Given the description of an element on the screen output the (x, y) to click on. 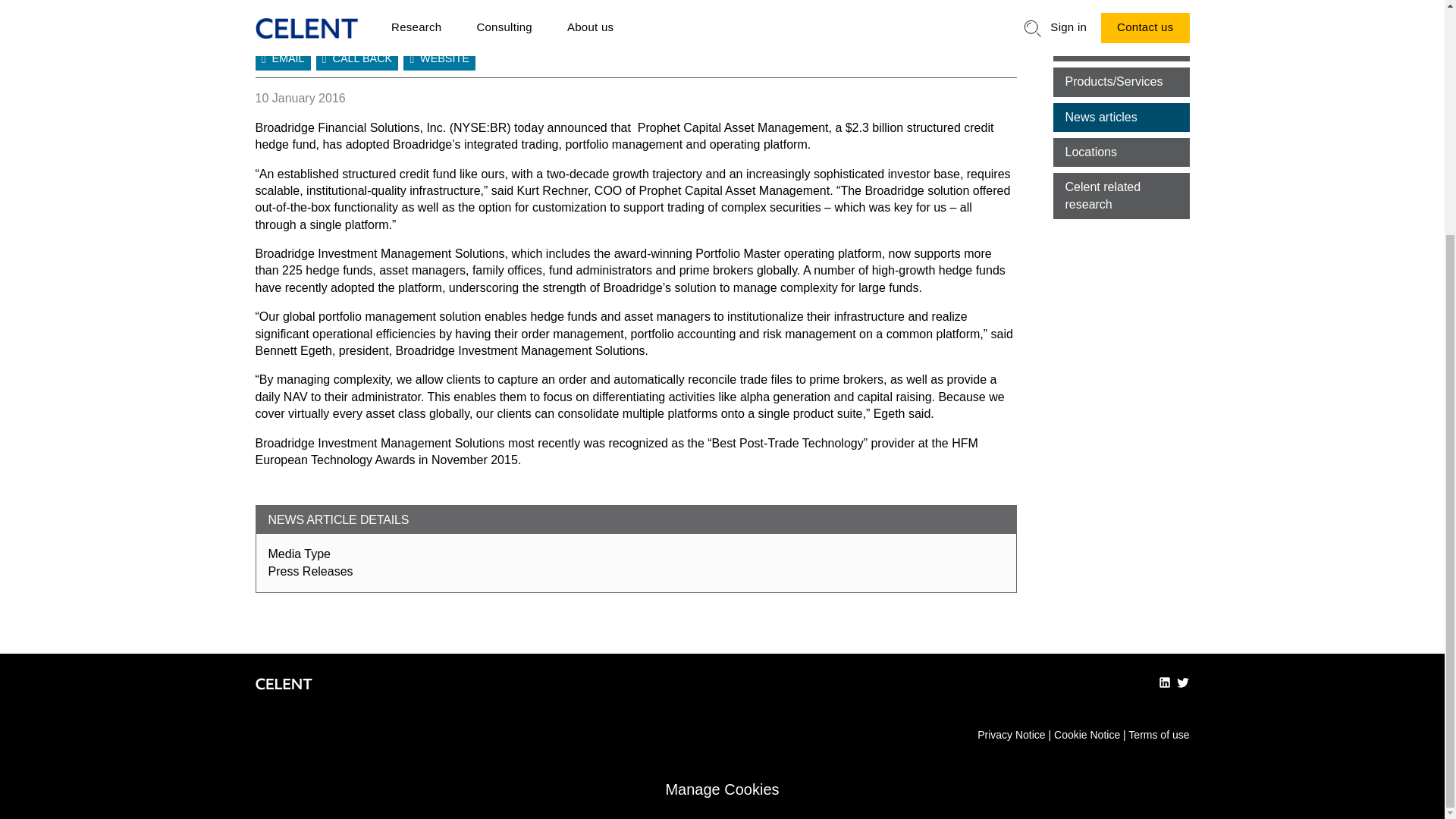
Company (1120, 46)
